Given the description of an element on the screen output the (x, y) to click on. 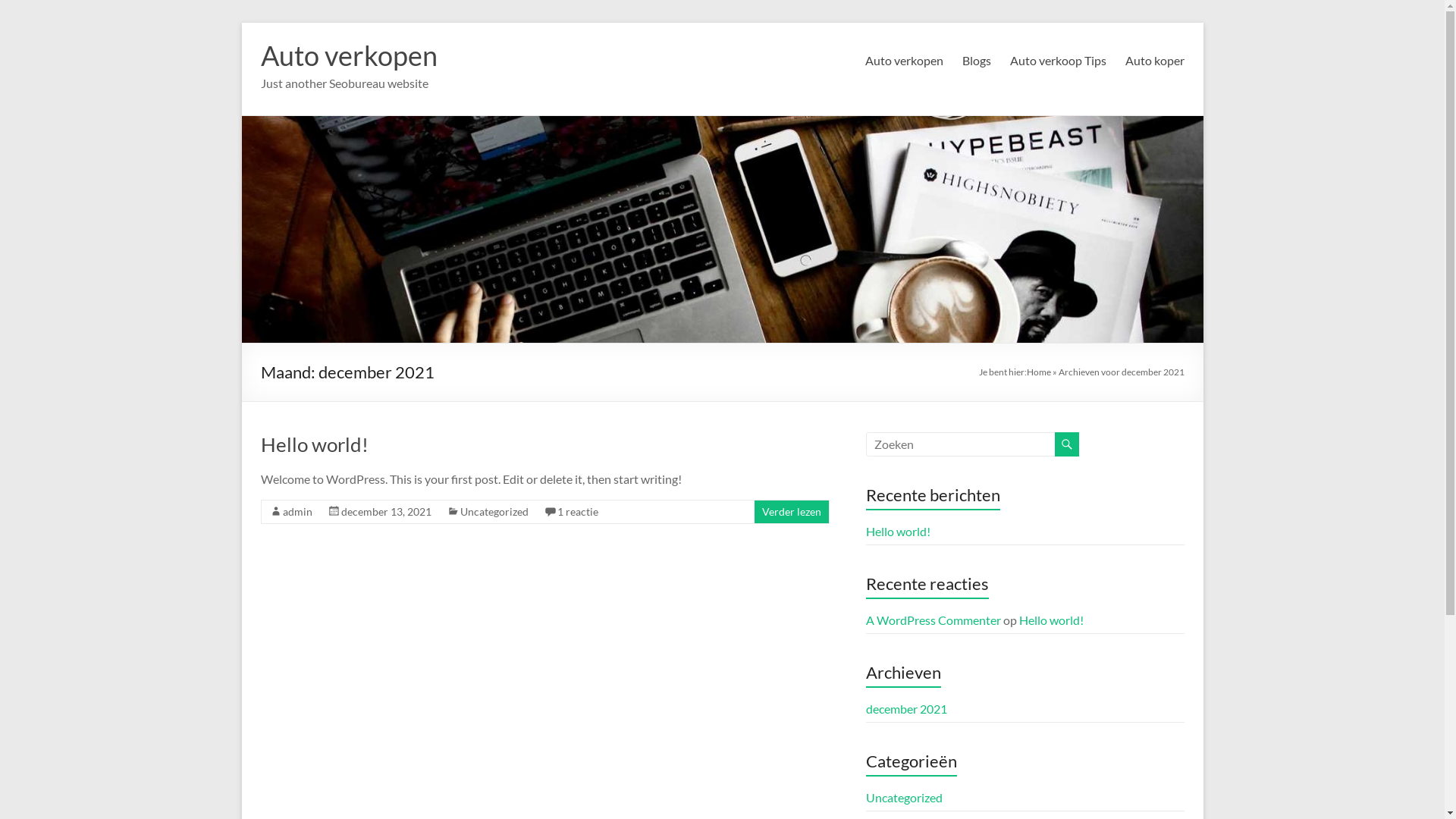
Auto verkoop Tips Element type: text (1058, 60)
Uncategorized Element type: text (904, 797)
A WordPress Commenter Element type: text (933, 619)
december 13, 2021 Element type: text (386, 511)
Verder lezen Element type: text (790, 511)
admin Element type: text (296, 511)
Home Element type: text (1038, 371)
Ga naar inhoud Element type: text (241, 21)
Auto verkopen Element type: text (903, 60)
Blogs Element type: text (975, 60)
Hello world! Element type: text (1051, 619)
Hello world! Element type: text (898, 531)
Hello world! Element type: text (314, 444)
Uncategorized Element type: text (493, 511)
Auto koper Element type: text (1154, 60)
Auto verkopen Element type: text (348, 55)
december 2021 Element type: text (906, 708)
1 reactie Element type: text (576, 511)
